Given the description of an element on the screen output the (x, y) to click on. 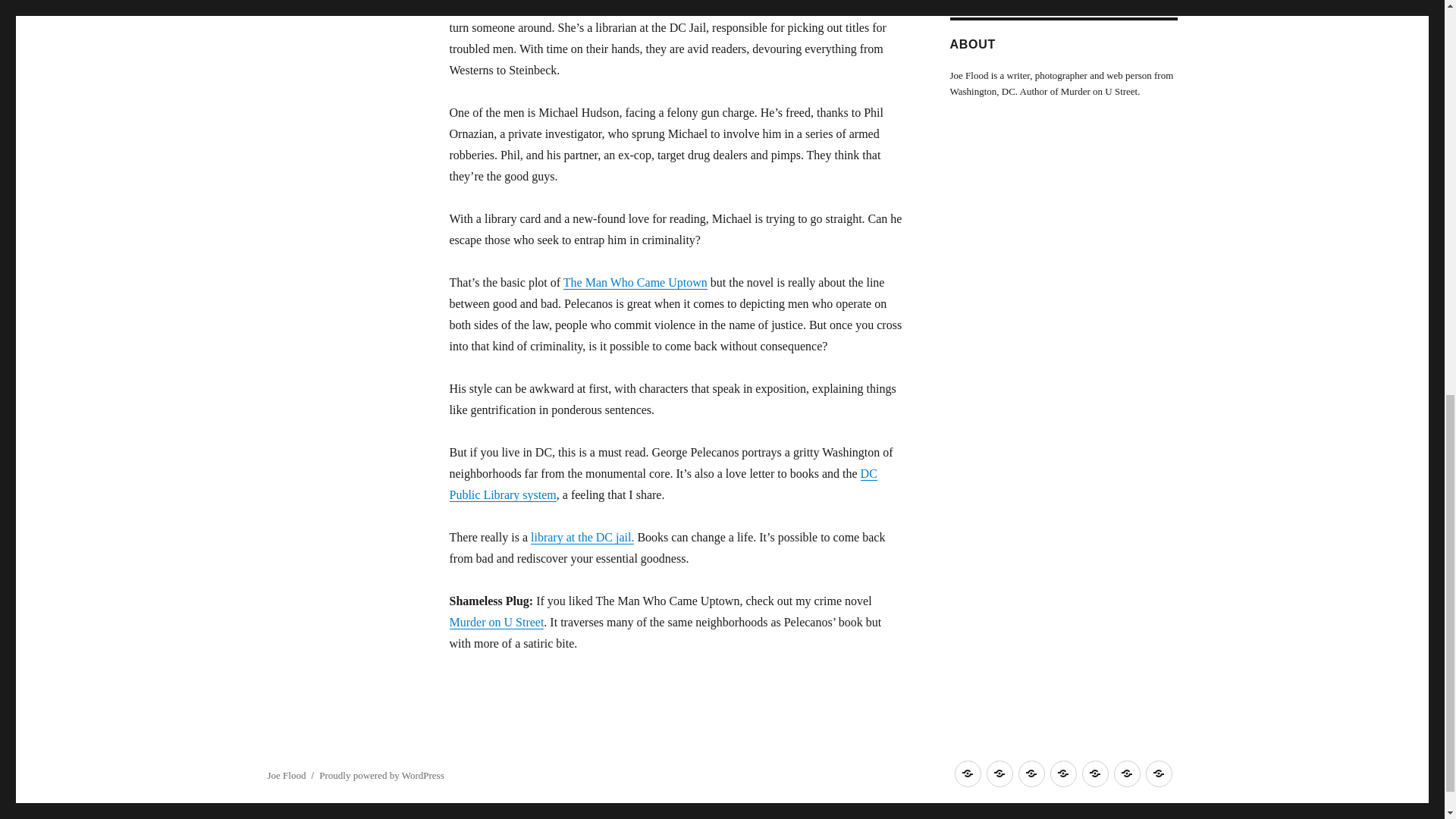
Murder on U Street (495, 621)
The Man Who Came Uptown (635, 282)
DC Public Library system (662, 483)
library at the DC jail. (582, 536)
